Given the description of an element on the screen output the (x, y) to click on. 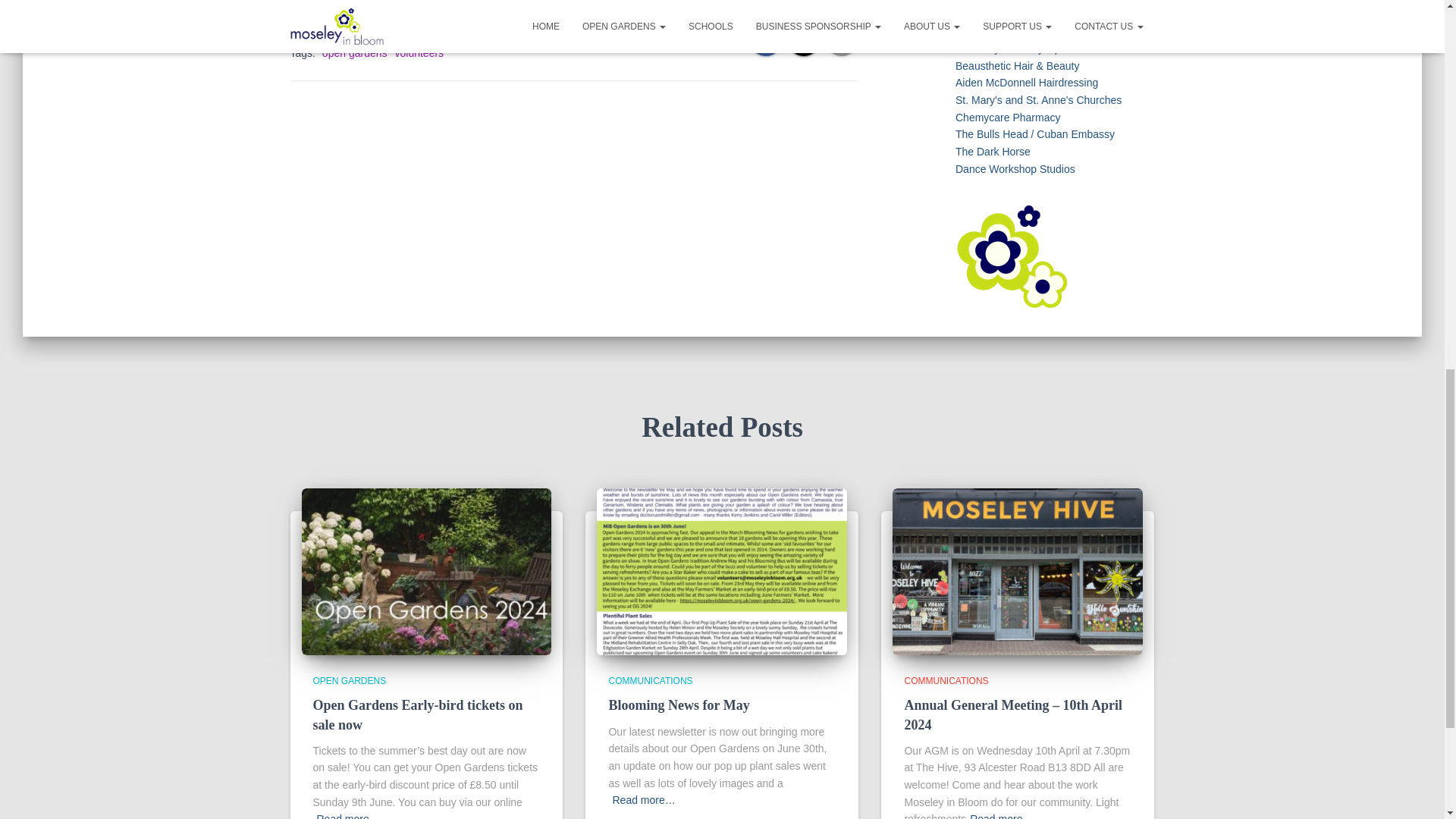
volunteers (419, 52)
open gardens (354, 52)
OPEN GARDENS (492, 27)
COMMUNICATIONS (396, 27)
